Given the description of an element on the screen output the (x, y) to click on. 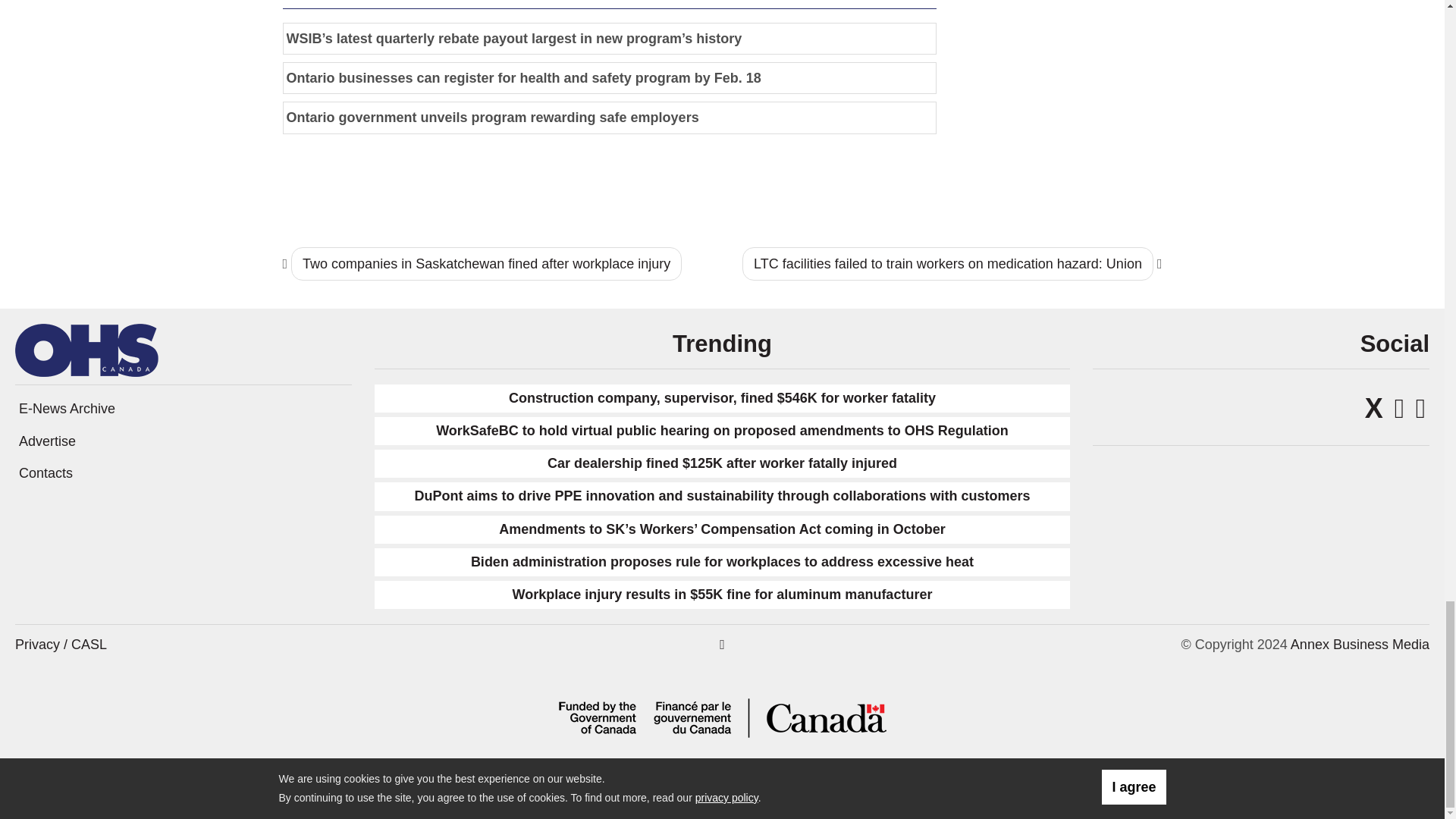
OHS Canada Magazine (86, 349)
Annex Business Media (1359, 644)
